Given the description of an element on the screen output the (x, y) to click on. 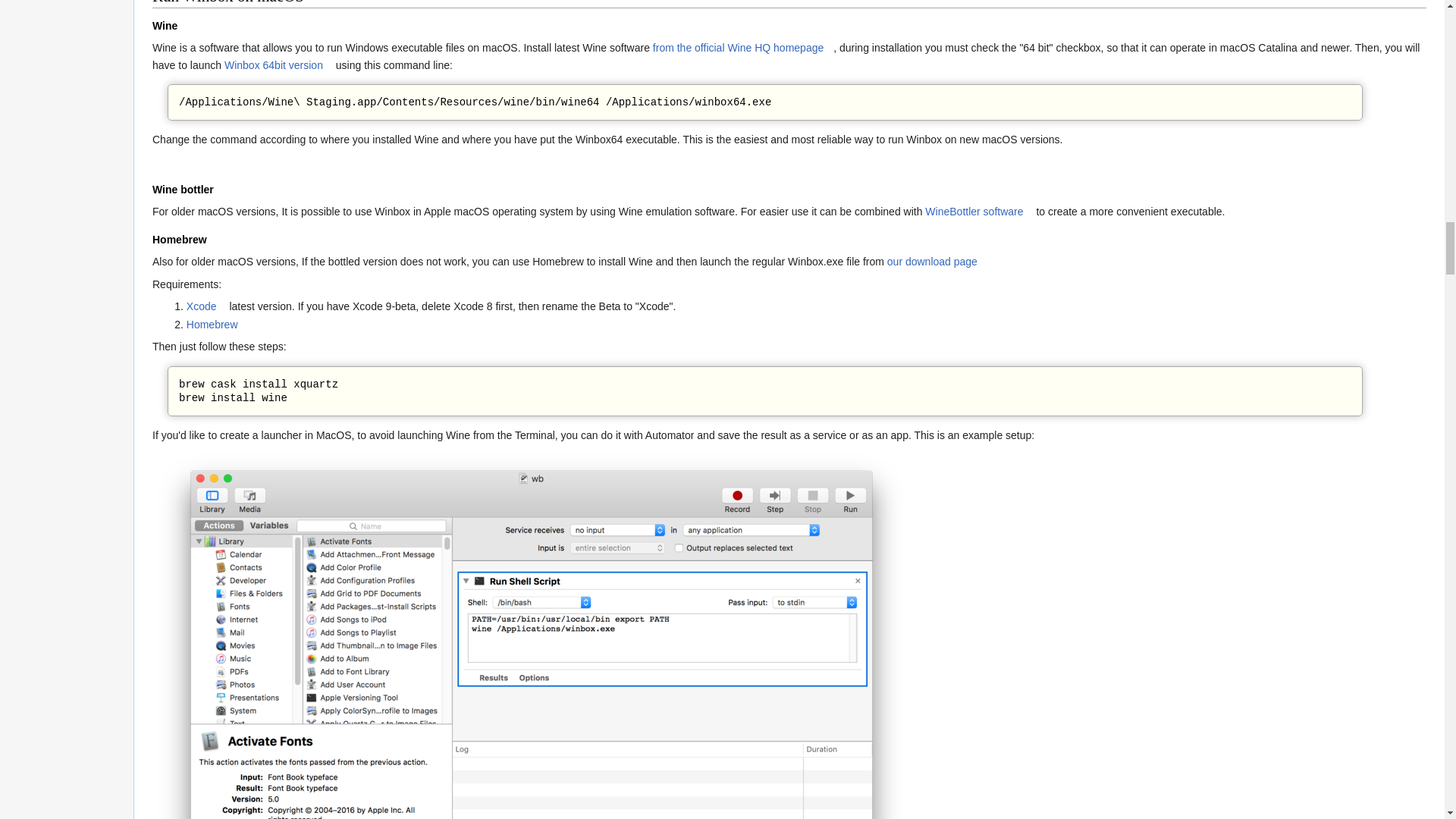
Xcode (206, 306)
our download page (936, 261)
from the official Wine HQ homepage (742, 47)
Homebrew (216, 324)
Winbox 64bit version (278, 64)
WineBottler software (978, 211)
